Given the description of an element on the screen output the (x, y) to click on. 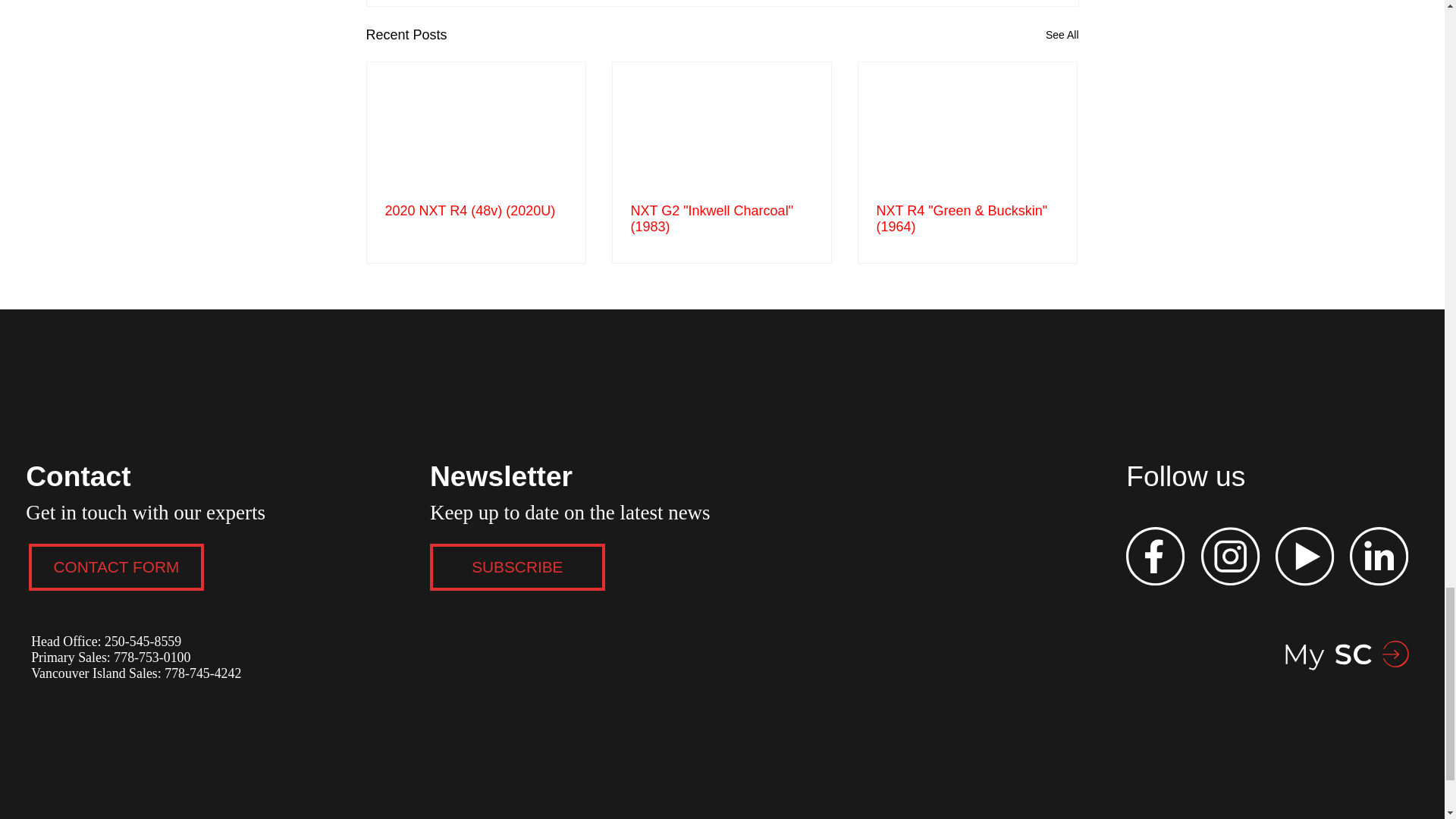
CONTACT FORM (116, 567)
250-545-8559 (142, 641)
778-753-0100 (150, 657)
SUBSCRIBE (517, 567)
See All (1061, 34)
778-745-4242 (202, 672)
